Given the description of an element on the screen output the (x, y) to click on. 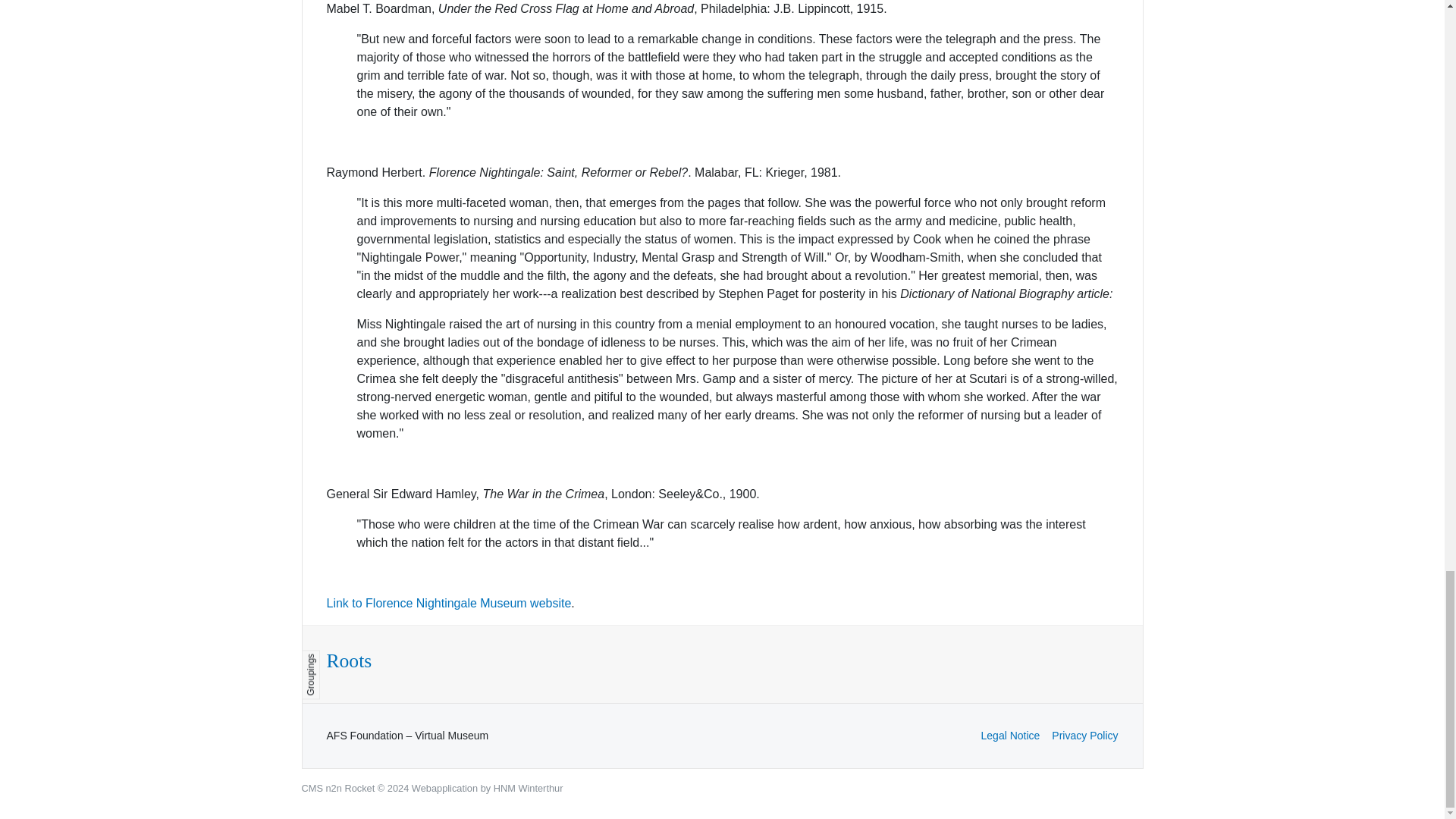
Link to Florence Nightingale Museum website (448, 603)
Webapplication by HNM Winterthur (487, 787)
CMS n2n Rocket (338, 787)
Privacy Policy (1084, 735)
Legal Notice (1010, 735)
Roots (348, 660)
